Given the description of an element on the screen output the (x, y) to click on. 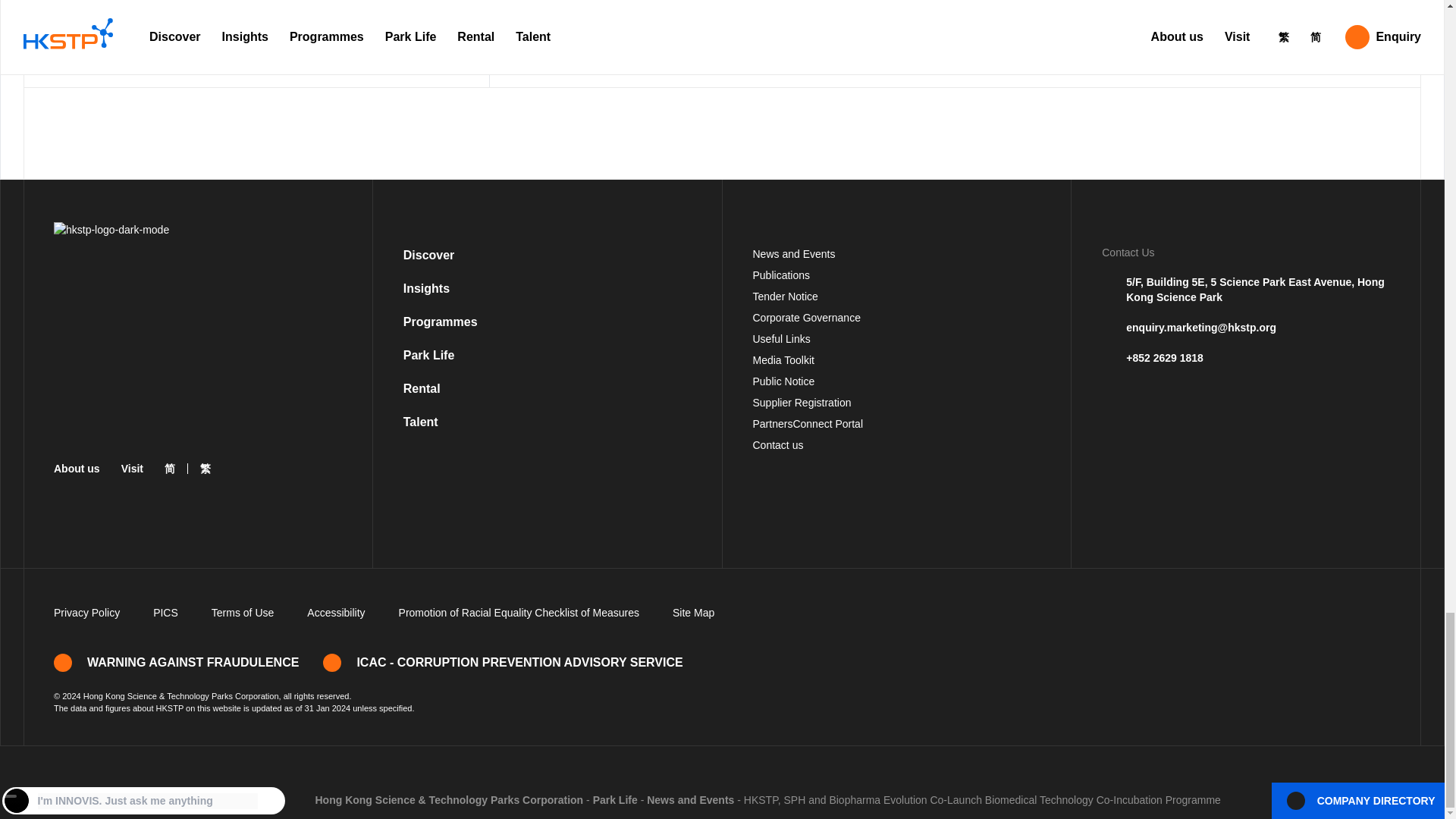
Talent (420, 421)
Insights (426, 287)
Programmes (440, 321)
Publications (780, 275)
Rental (422, 388)
News and Events (793, 254)
Discover (428, 254)
Visit (131, 468)
Park Life (428, 354)
About us (76, 468)
Tender Notice (784, 296)
